Given the description of an element on the screen output the (x, y) to click on. 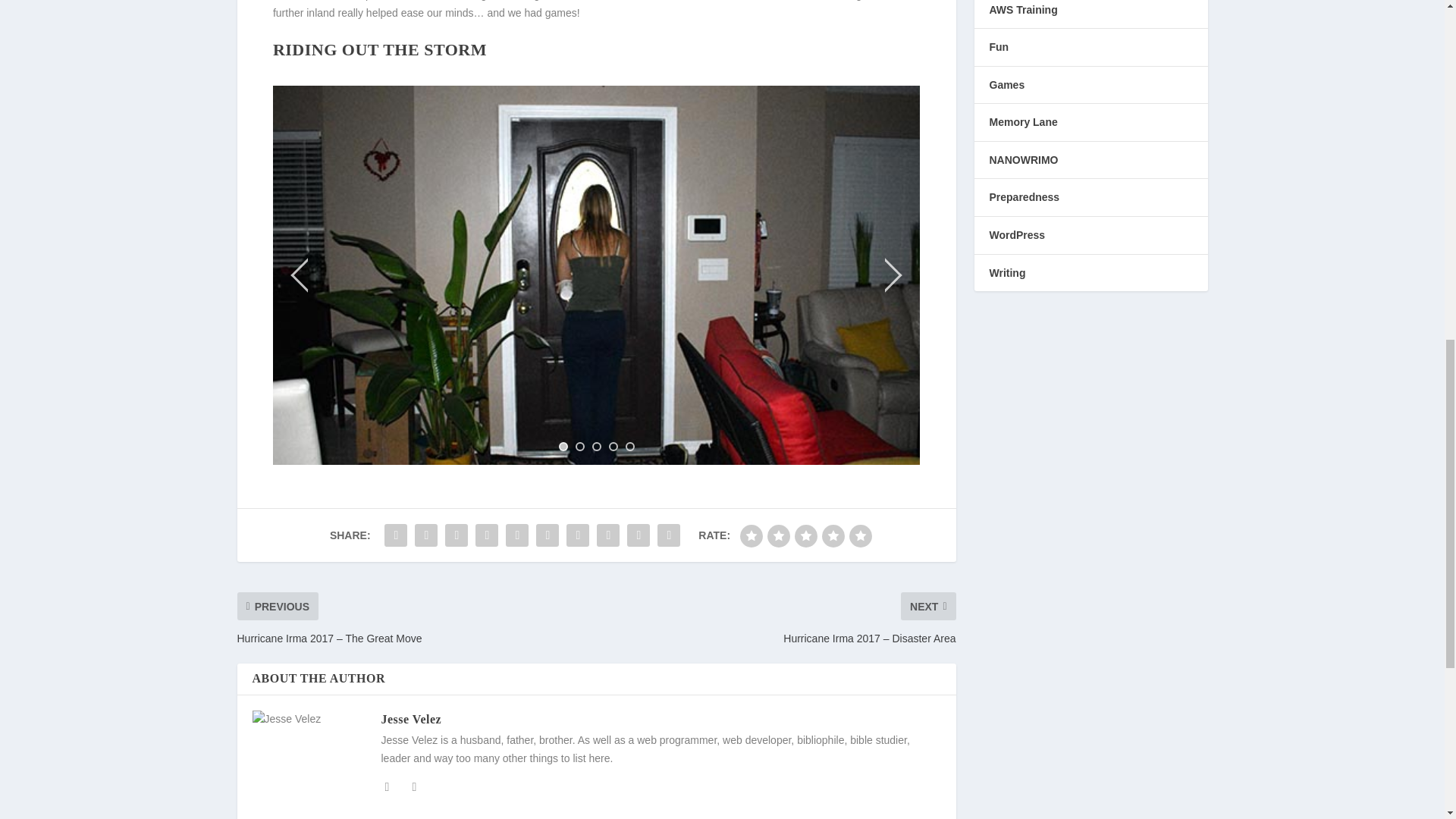
Jesse Velez (410, 718)
